Given the description of an element on the screen output the (x, y) to click on. 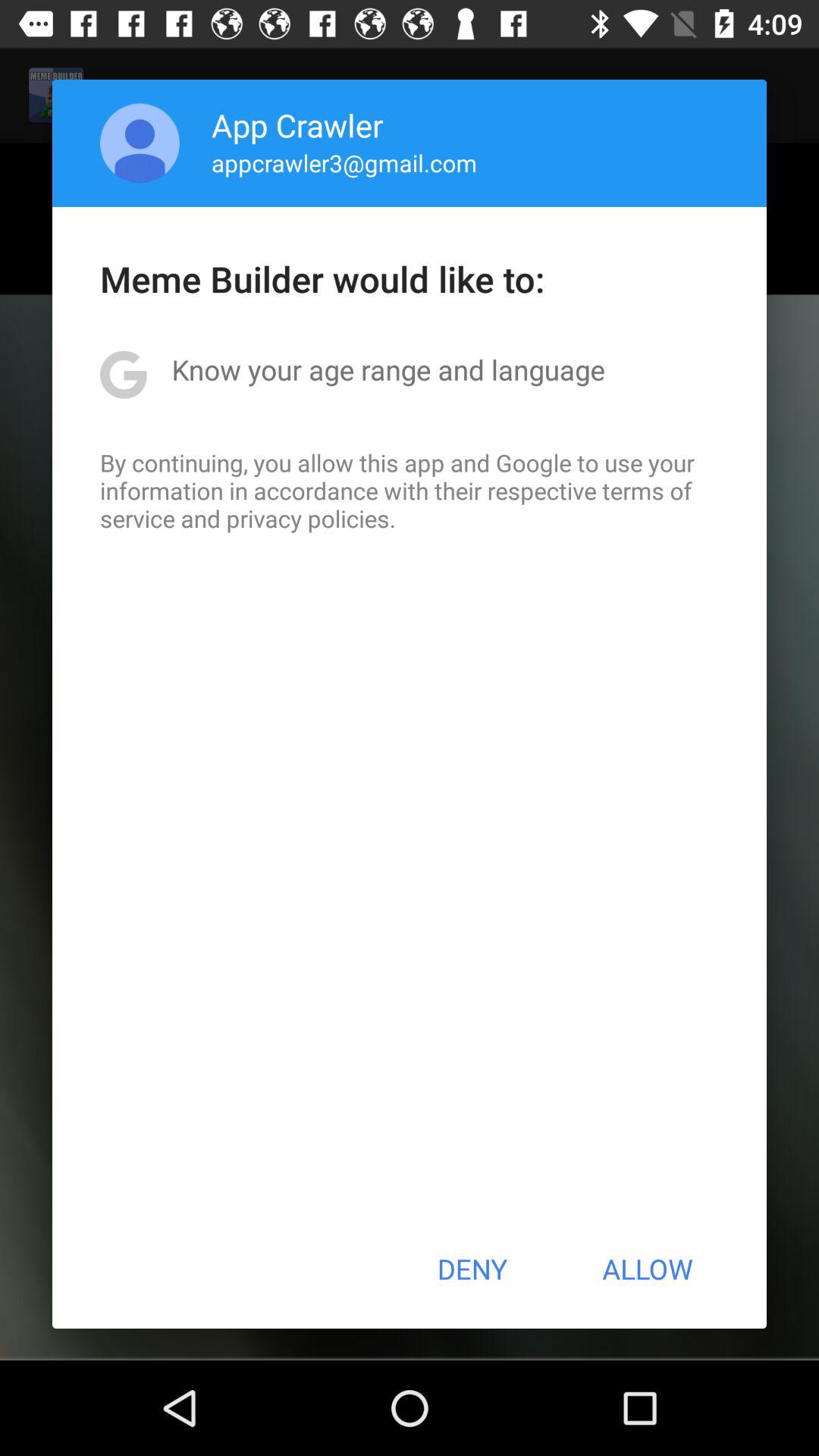
click the icon next to the allow (471, 1268)
